Given the description of an element on the screen output the (x, y) to click on. 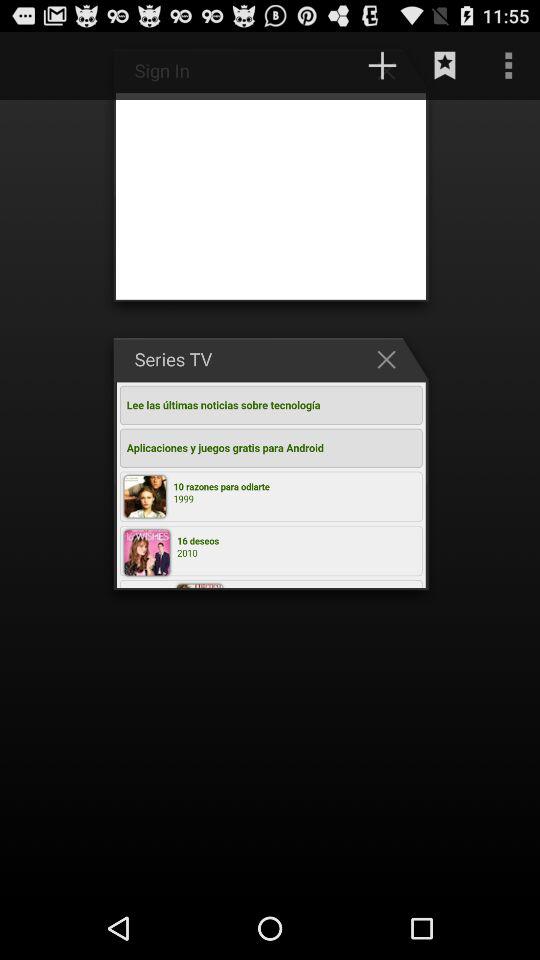
open icon next to http www javamovil item (41, 65)
